Given the description of an element on the screen output the (x, y) to click on. 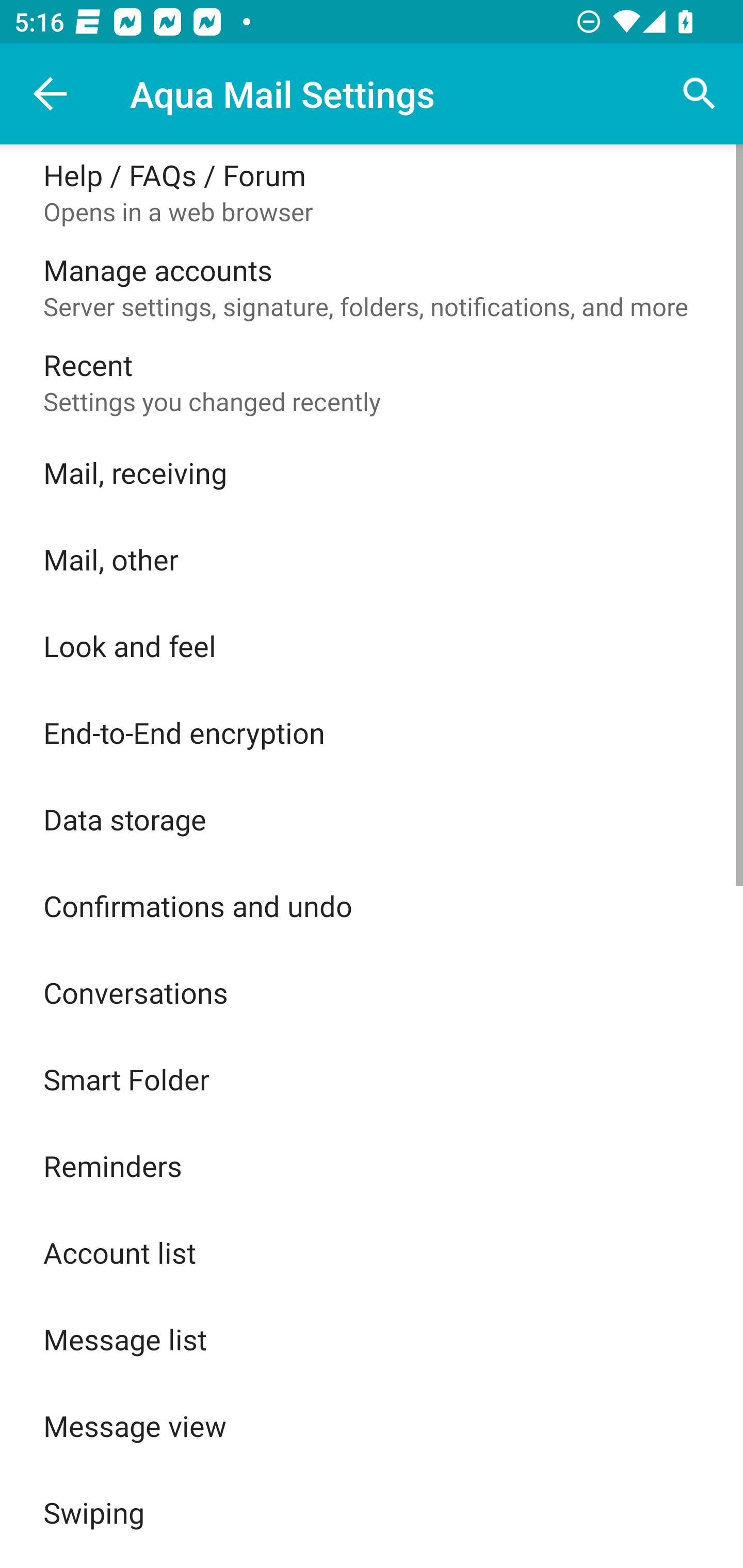
Navigate up (50, 93)
Search (699, 93)
Help / FAQs / Forum Opens in a web browser (371, 191)
Recent Settings you changed recently (371, 381)
Mail, receiving (371, 472)
Mail, other (371, 558)
Look and feel (371, 645)
End-to-End encryption (371, 732)
Data storage (371, 819)
Confirmations and undo (371, 905)
Conversations (371, 992)
Smart Folder (371, 1079)
Reminders (371, 1165)
Account list (371, 1251)
Message list (371, 1338)
Message view (371, 1425)
Swiping (371, 1512)
